Given the description of an element on the screen output the (x, y) to click on. 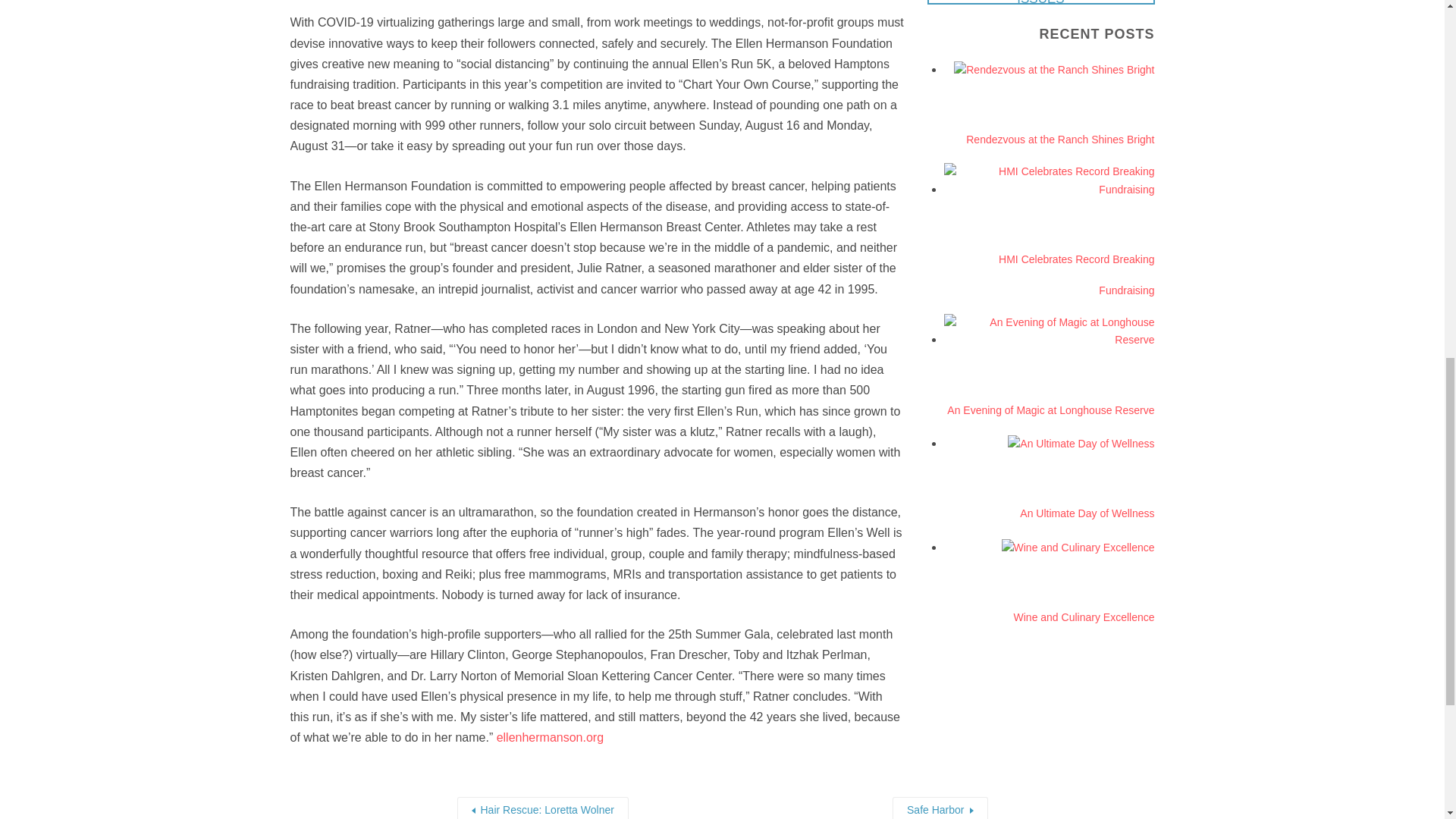
Click here to sign up for THE PURIST newsletter (1040, 2)
